Given the description of an element on the screen output the (x, y) to click on. 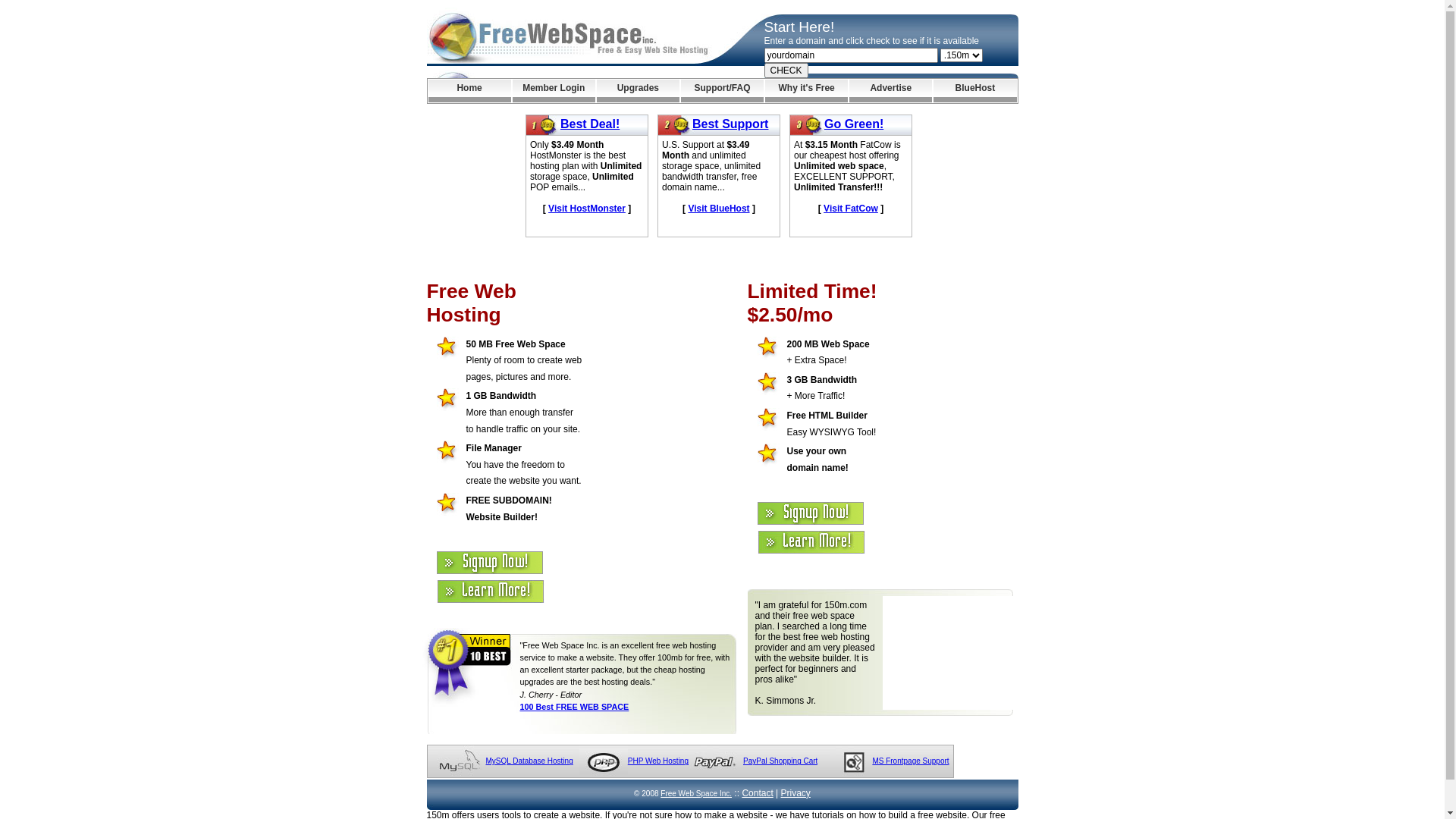
PHP Web Hosting Element type: text (657, 760)
Contact Element type: text (756, 792)
CHECK Element type: text (786, 70)
Why it's Free Element type: text (806, 90)
BlueHost Element type: text (974, 90)
Advertise Element type: text (890, 90)
Free Web Space Inc. Element type: text (695, 793)
100 Best FREE WEB SPACE Element type: text (574, 706)
Home Element type: text (468, 90)
PayPal Shopping Cart Element type: text (780, 760)
Privacy Element type: text (795, 792)
MS Frontpage Support Element type: text (910, 760)
Upgrades Element type: text (637, 90)
Member Login Element type: text (553, 90)
MySQL Database Hosting Element type: text (528, 760)
Support/FAQ Element type: text (721, 90)
